Given the description of an element on the screen output the (x, y) to click on. 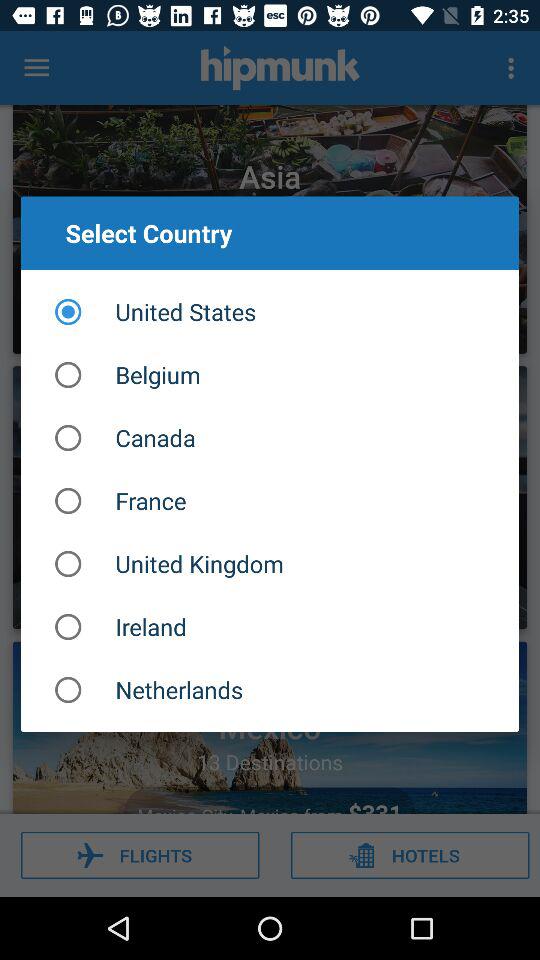
press united kingdom item (270, 563)
